Given the description of an element on the screen output the (x, y) to click on. 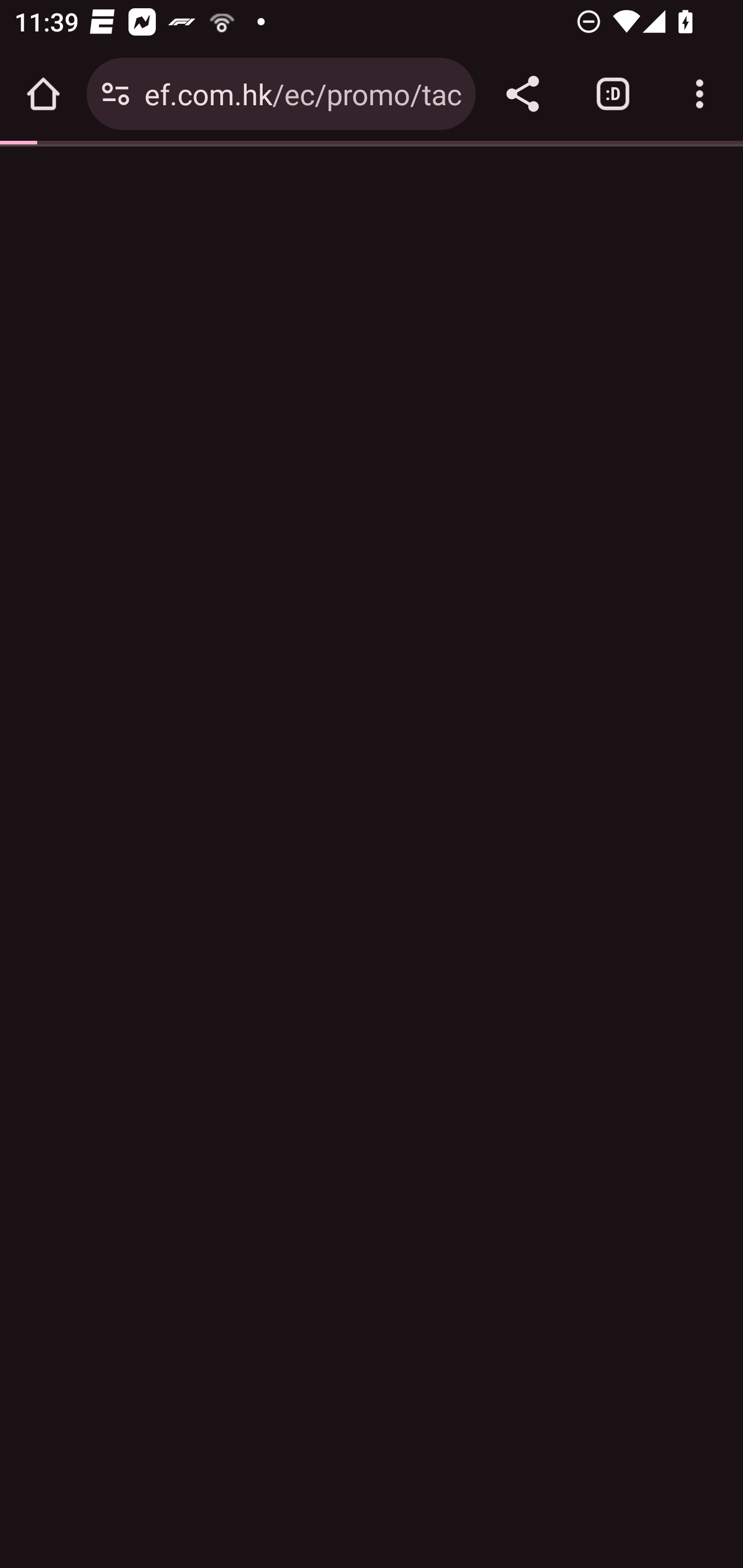
Open the home page (43, 93)
Your connection to this site is not secure (115, 93)
Share (522, 93)
Switch or close tabs (612, 93)
Customize and control Google Chrome (699, 93)
